Given the description of an element on the screen output the (x, y) to click on. 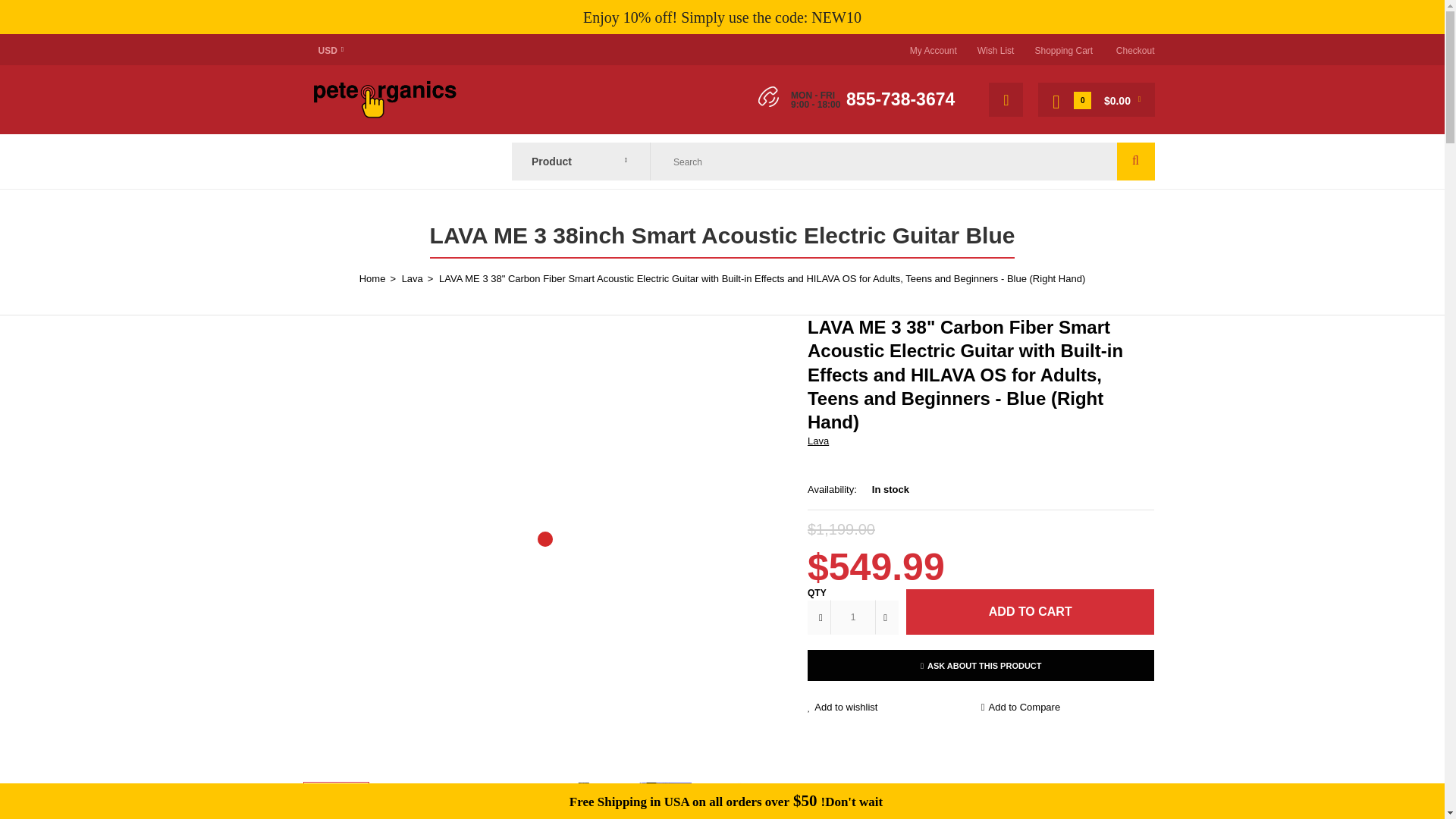
1 (853, 617)
My Account (933, 50)
Lava (818, 440)
Pete Organics (384, 114)
Wish List (995, 50)
Add to Compare (1067, 707)
Add to cart (1029, 611)
Shopping Cart (1063, 50)
Pete Organics (384, 96)
Checkout (1135, 50)
Add to wishlist (894, 707)
